Given the description of an element on the screen output the (x, y) to click on. 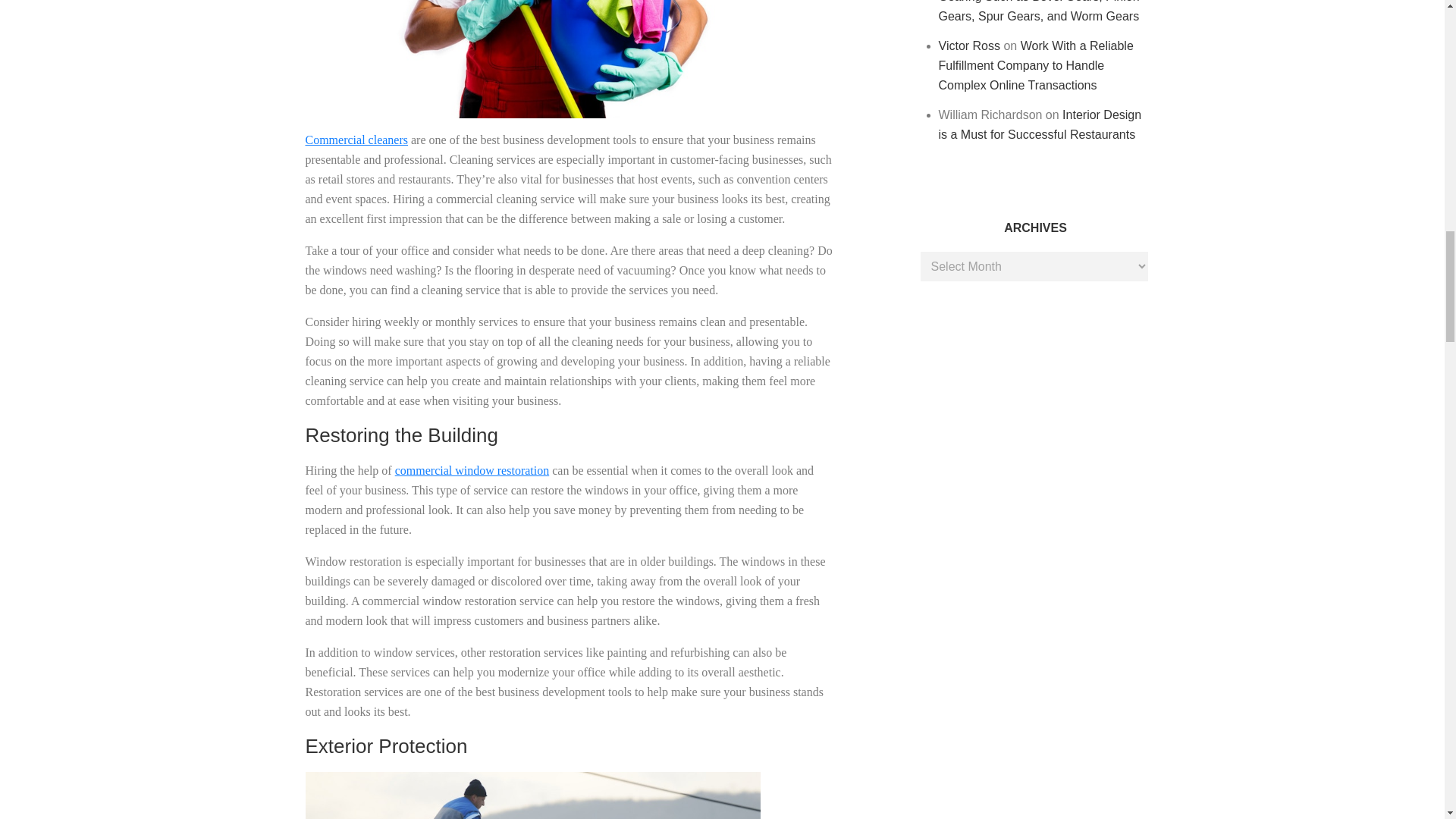
Commercial cleaners (355, 139)
Interior Design is a Must for Successful Restaurants (1040, 124)
Victor Ross (970, 45)
commercial window restoration (472, 470)
